Given the description of an element on the screen output the (x, y) to click on. 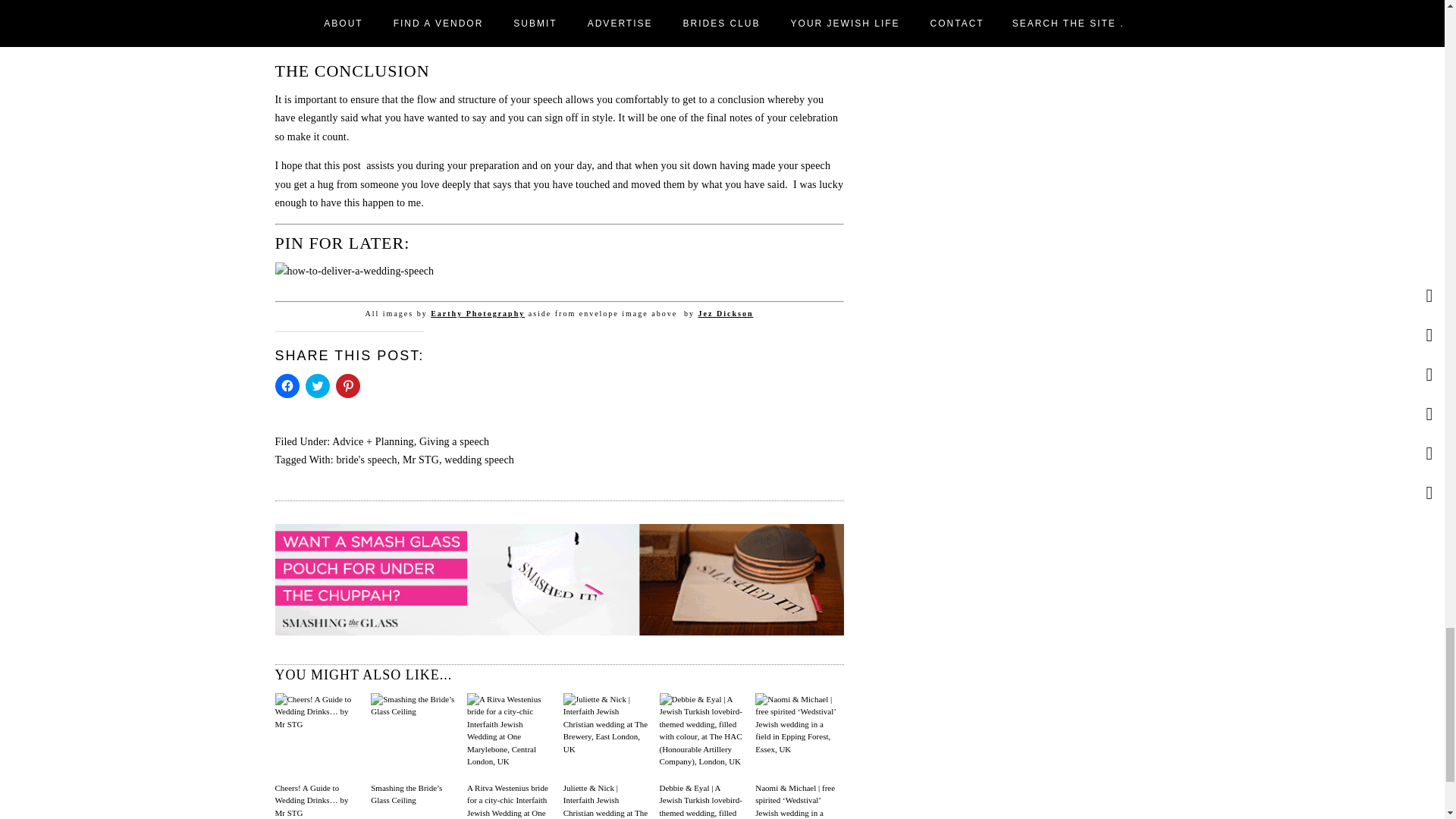
Click to share on Pinterest (346, 385)
Click to share on Twitter (316, 385)
Click to share on Facebook (286, 385)
